Given the description of an element on the screen output the (x, y) to click on. 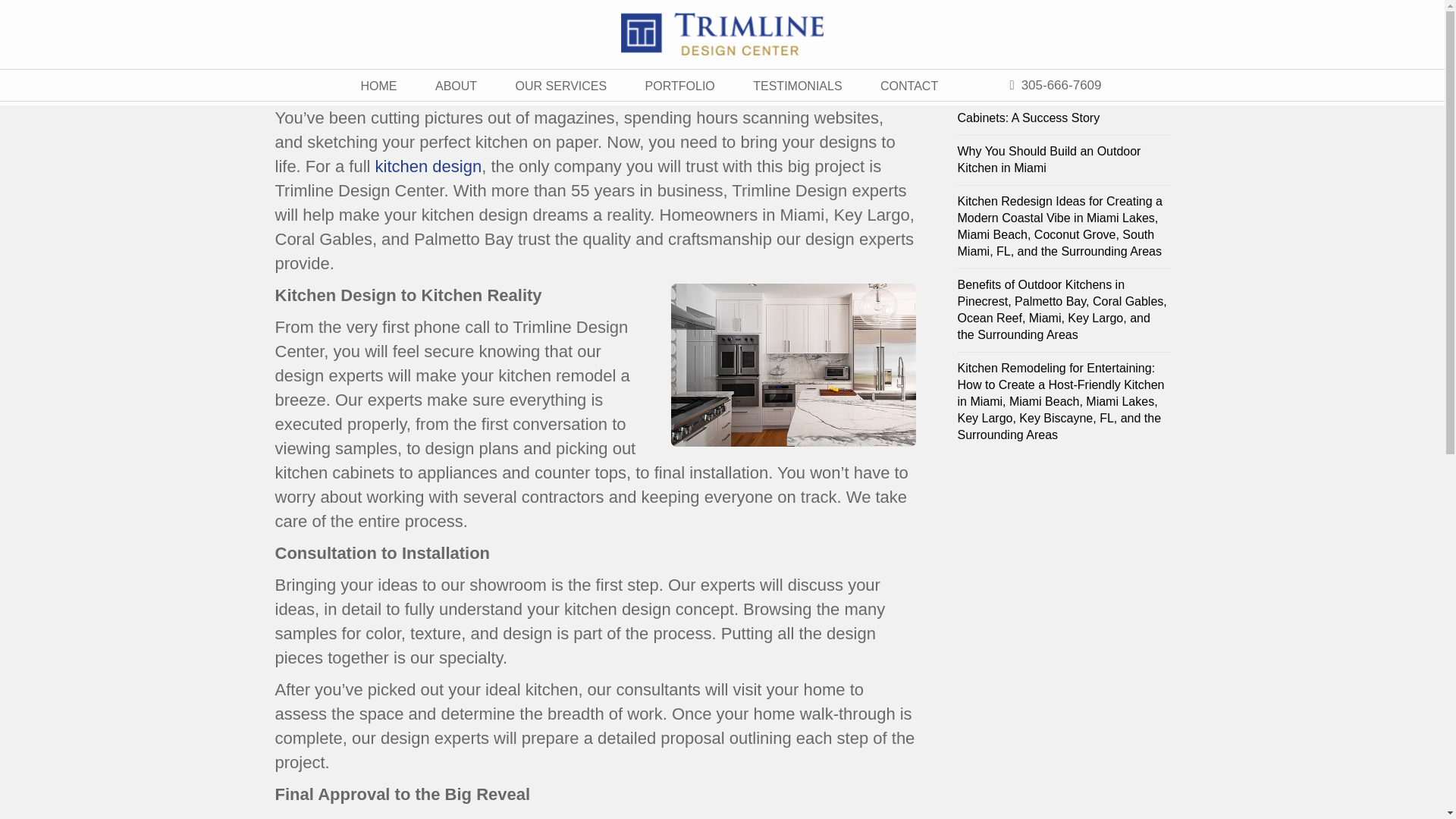
305-666-7609 (1054, 85)
ABOUT (456, 84)
OUR SERVICES (560, 84)
PORTFOLIO (679, 84)
CONTACT (909, 84)
kitchen design (428, 166)
Why You Should Build an Outdoor Kitchen in Miami (1062, 160)
TESTIMONIALS (797, 84)
